Given the description of an element on the screen output the (x, y) to click on. 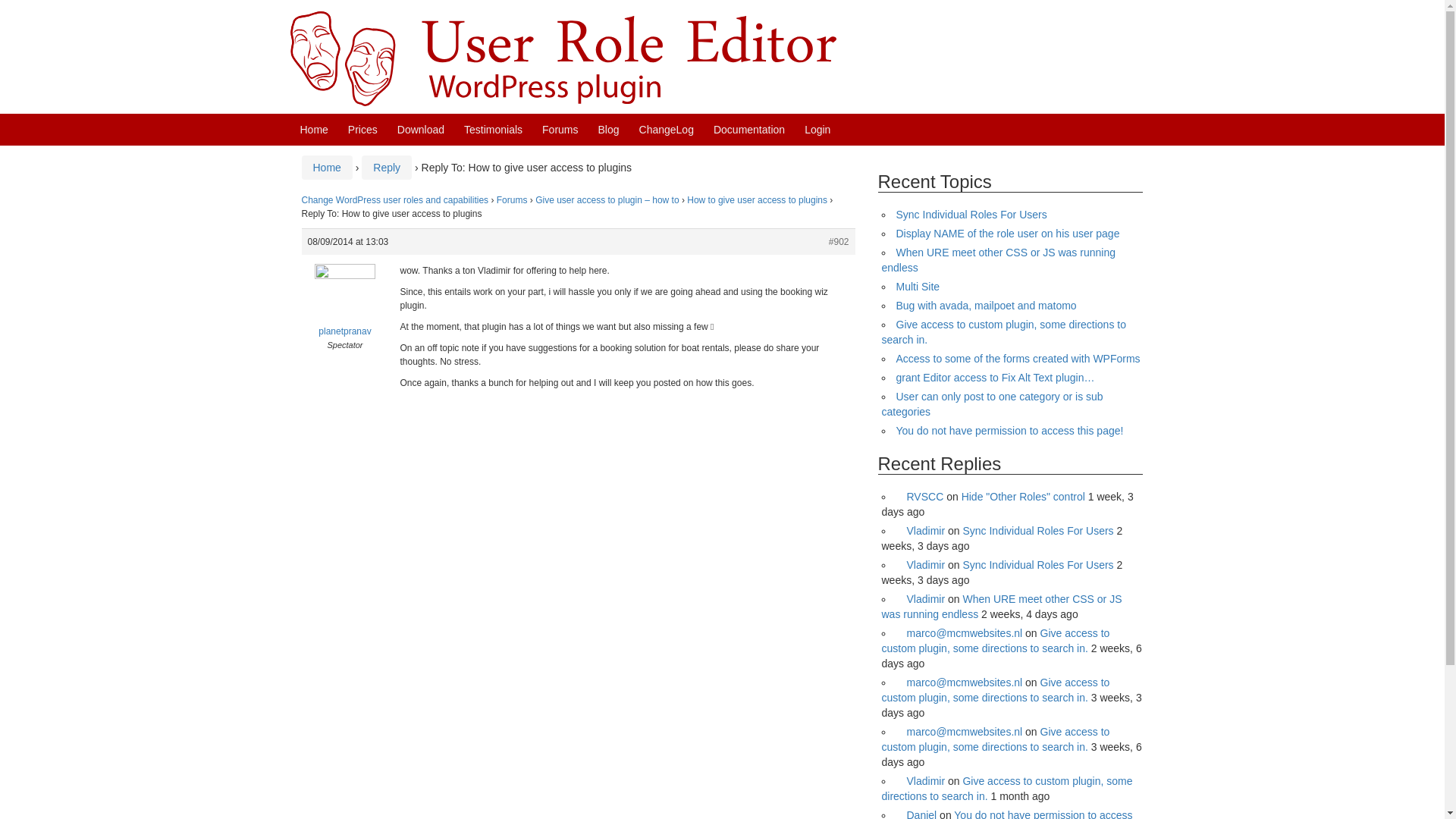
Documentation (748, 129)
Blog (609, 129)
View Vladimir's profile (920, 530)
View RVSCC's profile (919, 496)
You do not have permission to access this page! (1010, 430)
Vladimir (920, 530)
Sync Individual Roles For Users (971, 214)
ChangeLog (666, 129)
Prices (362, 129)
When URE meet other CSS or JS was running endless (1000, 605)
